Given the description of an element on the screen output the (x, y) to click on. 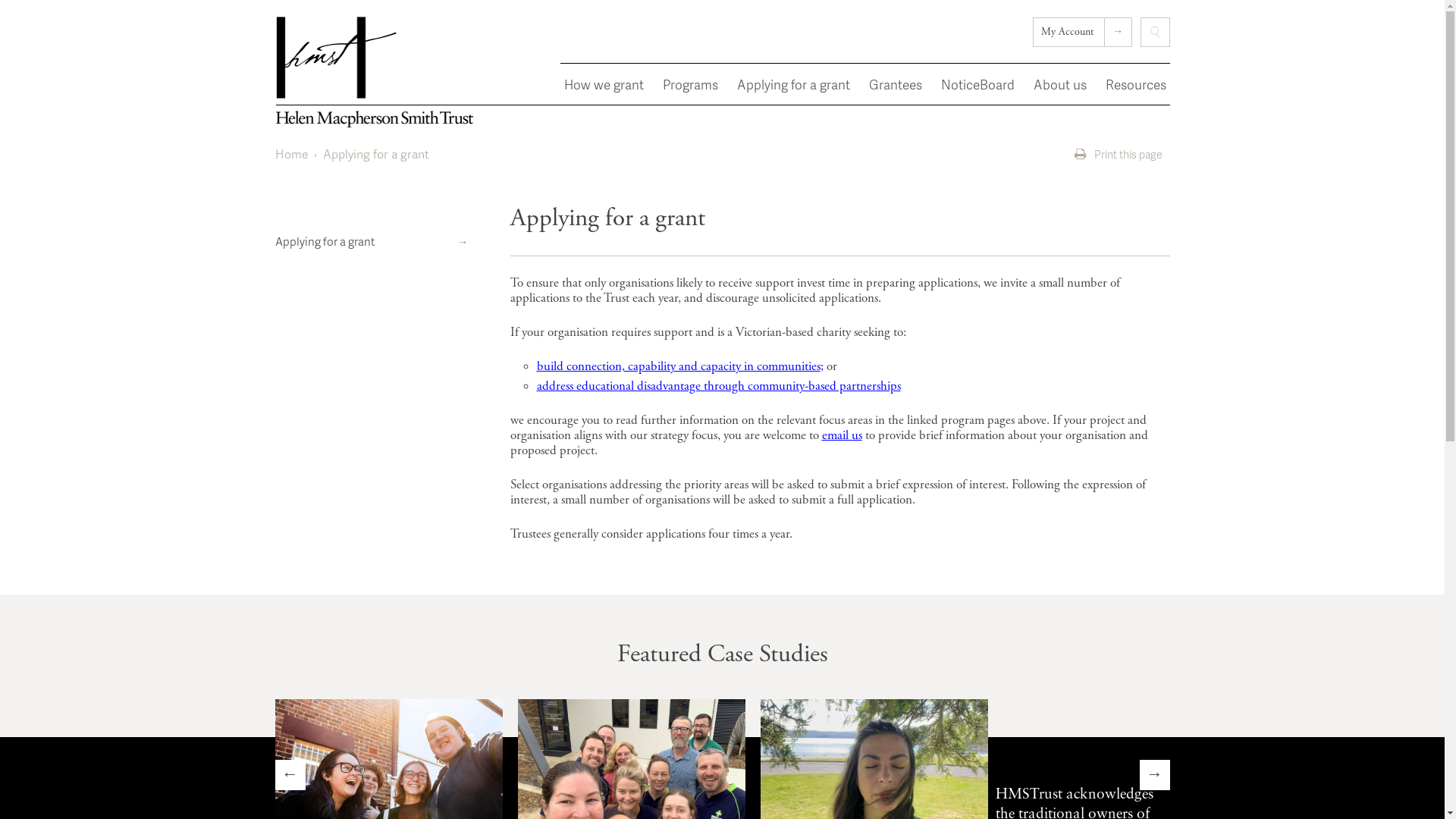
My Account Element type: text (1082, 32)
Search Element type: text (1155, 32)
Applying for a grant Element type: text (792, 83)
NoticeBoard Element type: text (977, 83)
Programs Element type: text (689, 83)
Print this page Element type: text (1115, 154)
build connection, capability and capacity in communities Element type: text (678, 365)
Home Element type: text (290, 153)
How we grant Element type: text (602, 83)
Helen Macpherson Smith Trust Element type: text (374, 71)
Applying for a grant Element type: text (376, 240)
Grantees Element type: text (894, 83)
email us Element type: text (842, 434)
About us Element type: text (1059, 83)
Resources Element type: text (1135, 83)
